Given the description of an element on the screen output the (x, y) to click on. 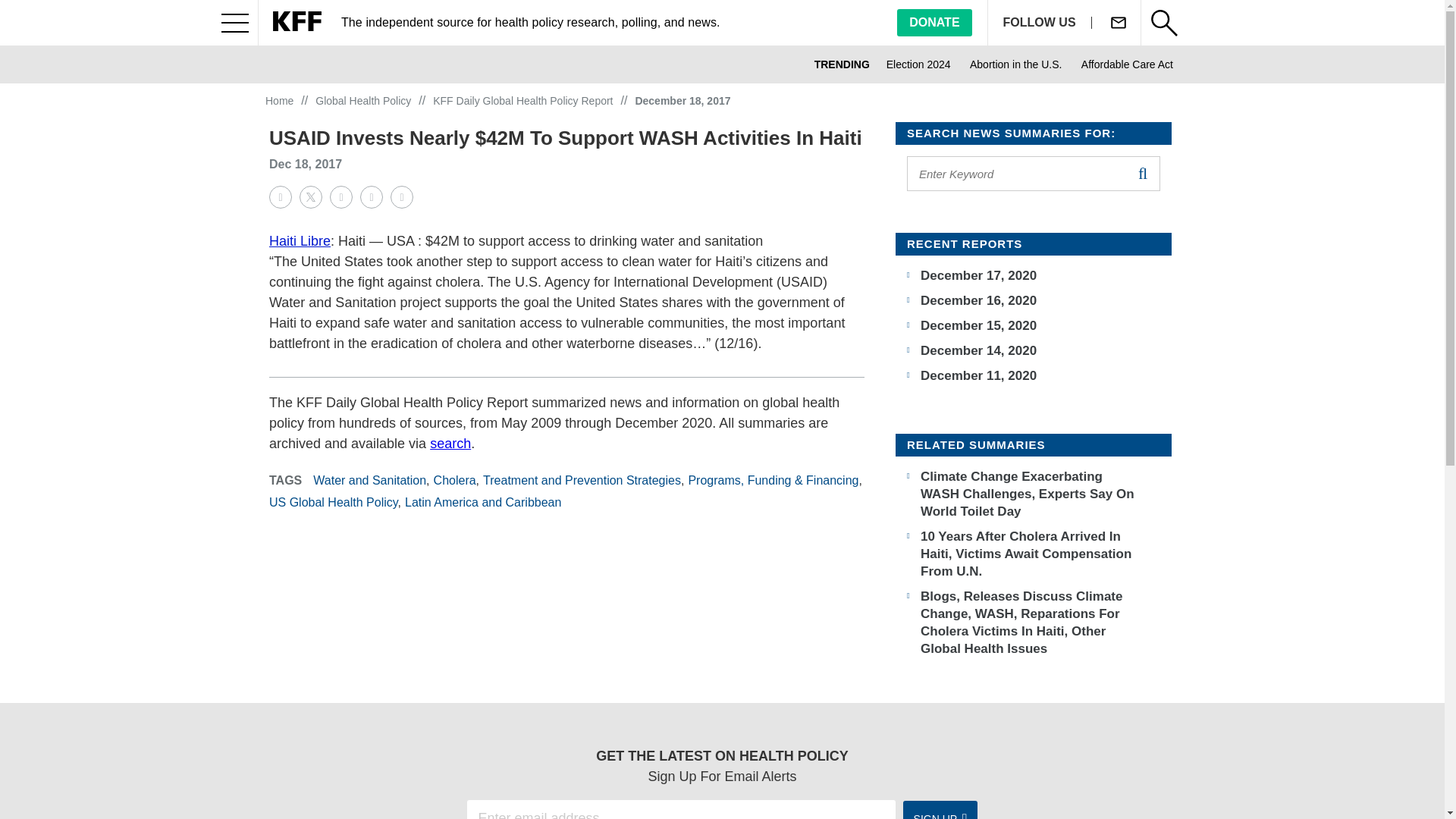
search (1141, 173)
